Given the description of an element on the screen output the (x, y) to click on. 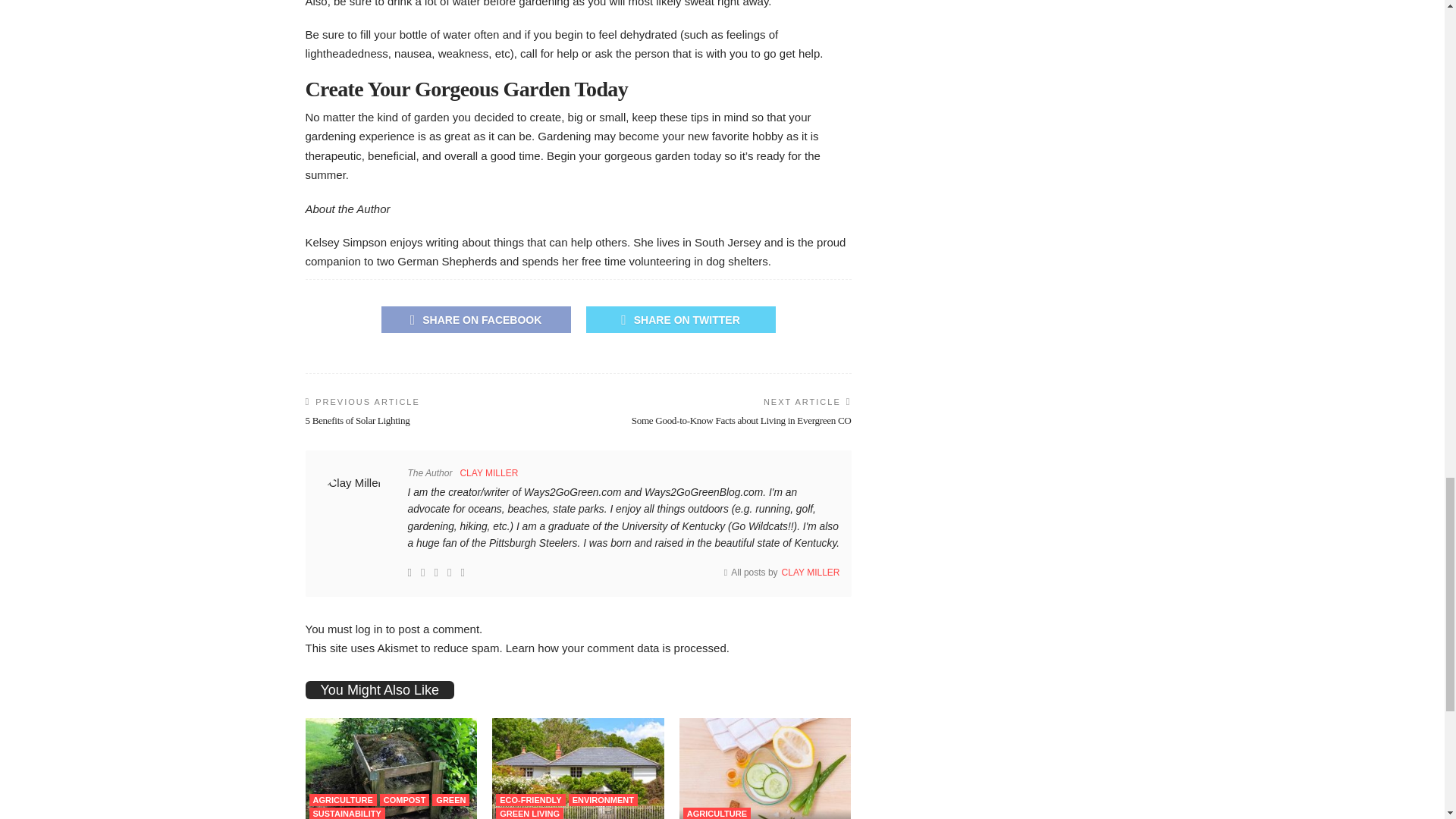
SHARE ON TWITTER (679, 319)
compost (404, 799)
Some Good-to-Know Facts about Living in Evergreen CO (741, 419)
agriculture (342, 799)
How Can We Cultivate Sustainable Practices At Home? (390, 768)
5 Benefits of Solar Lighting (356, 419)
5 Benefits of Solar Lighting (356, 419)
SHARE ON FACEBOOK (475, 319)
